Given the description of an element on the screen output the (x, y) to click on. 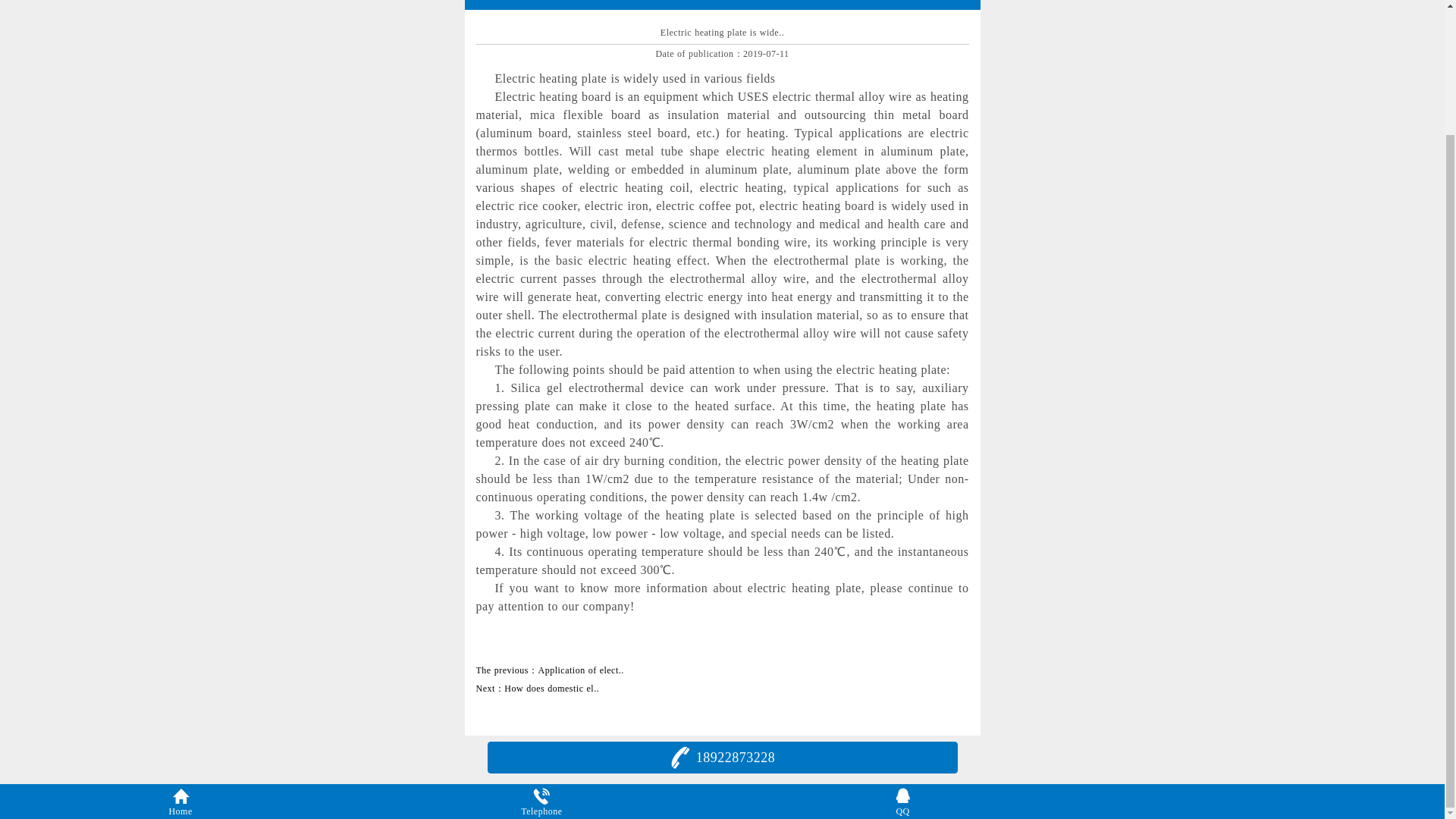
Home (180, 651)
18922873228 (722, 606)
QQ (902, 651)
Telephone (541, 651)
